Given the description of an element on the screen output the (x, y) to click on. 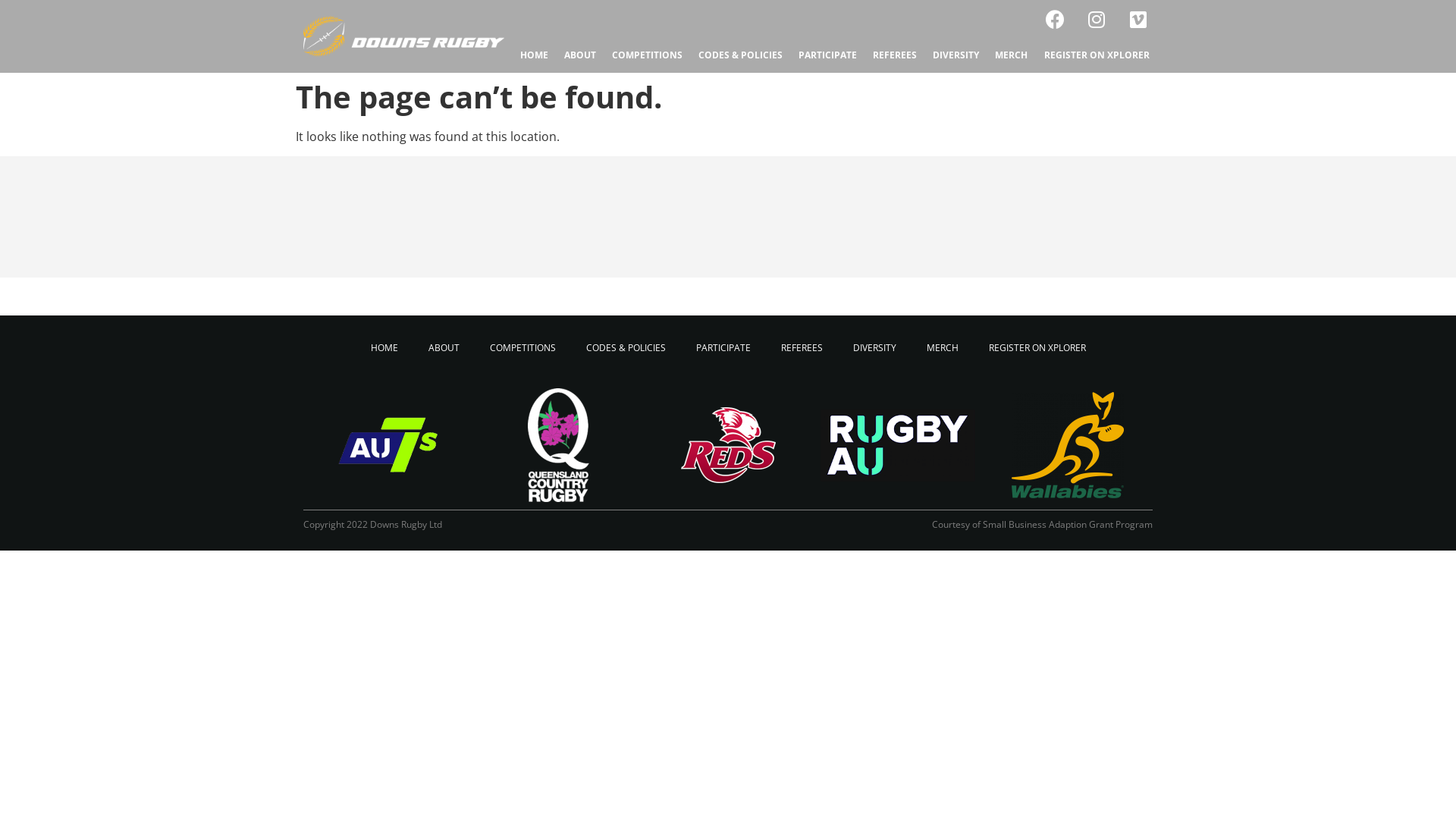
MERCH Element type: text (942, 347)
ABOUT Element type: text (442, 347)
HOME Element type: text (383, 347)
qld-country-rugby Element type: hover (558, 445)
ABOUT Element type: text (579, 54)
HOME Element type: text (533, 54)
reds-logo Element type: hover (727, 445)
REFEREES Element type: text (895, 54)
REGISTER ON XPLORER Element type: text (1096, 54)
DIVERSITY Element type: text (873, 347)
COMPETITIONS Element type: text (522, 347)
Courtesy of Small Business Adaption Grant Program Element type: text (1041, 523)
DIVERSITY Element type: text (956, 54)
MERCH Element type: text (1011, 54)
CODES & POLICIES Element type: text (625, 347)
Wallabies 2021 Element type: hover (1067, 445)
PARTICIPATE Element type: text (827, 54)
Australia_7s Element type: hover (388, 444)
PARTICIPATE Element type: text (722, 347)
COMPETITIONS Element type: text (646, 54)
CODES & POLICIES Element type: text (740, 54)
REFEREES Element type: text (801, 347)
REGISTER ON XPLORER Element type: text (1037, 347)
